Given the description of an element on the screen output the (x, y) to click on. 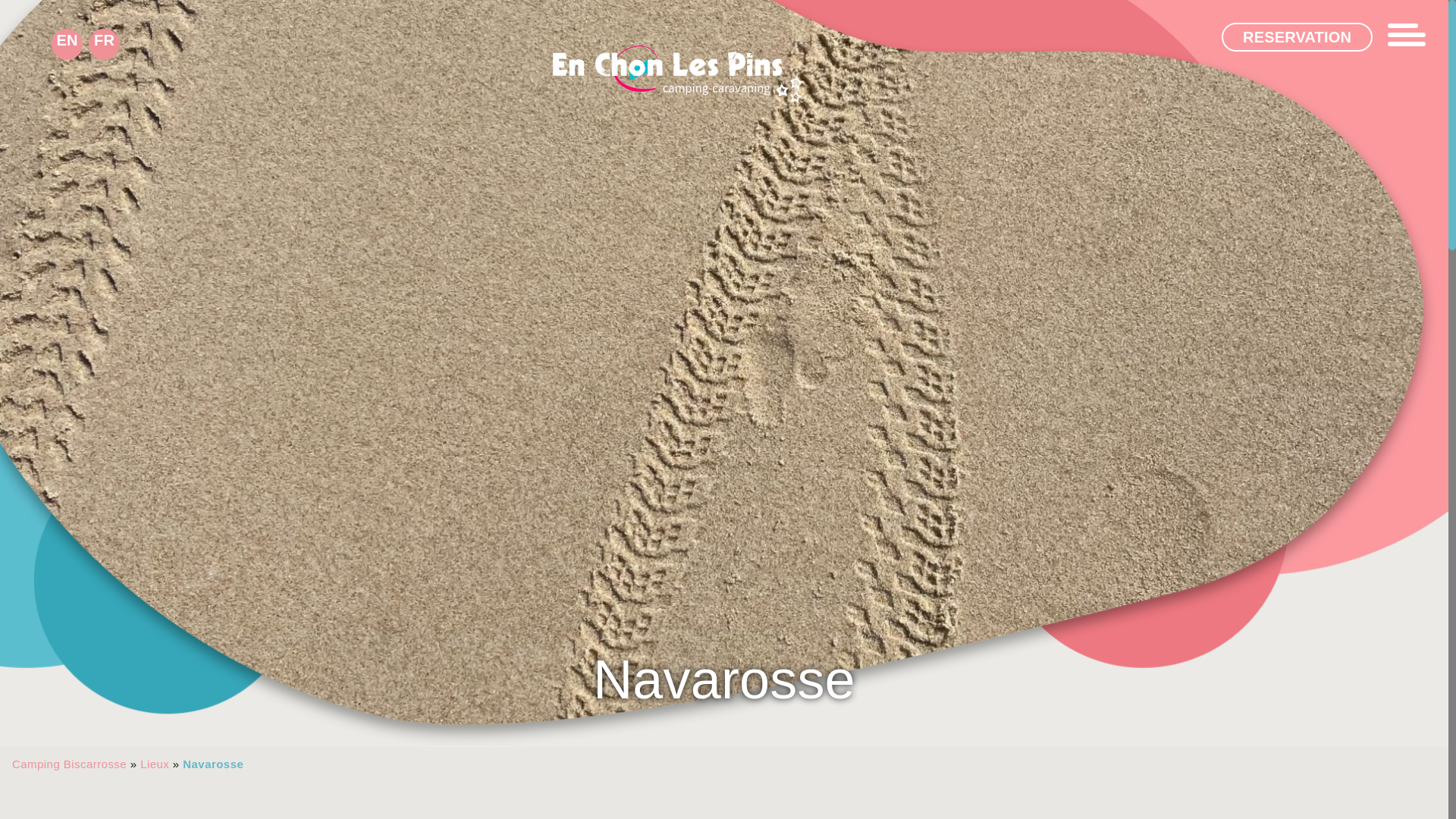
FR (103, 43)
Camping Biscarrosse (68, 763)
EN (66, 43)
RESERVATION (1297, 36)
Lieux (153, 763)
